Given the description of an element on the screen output the (x, y) to click on. 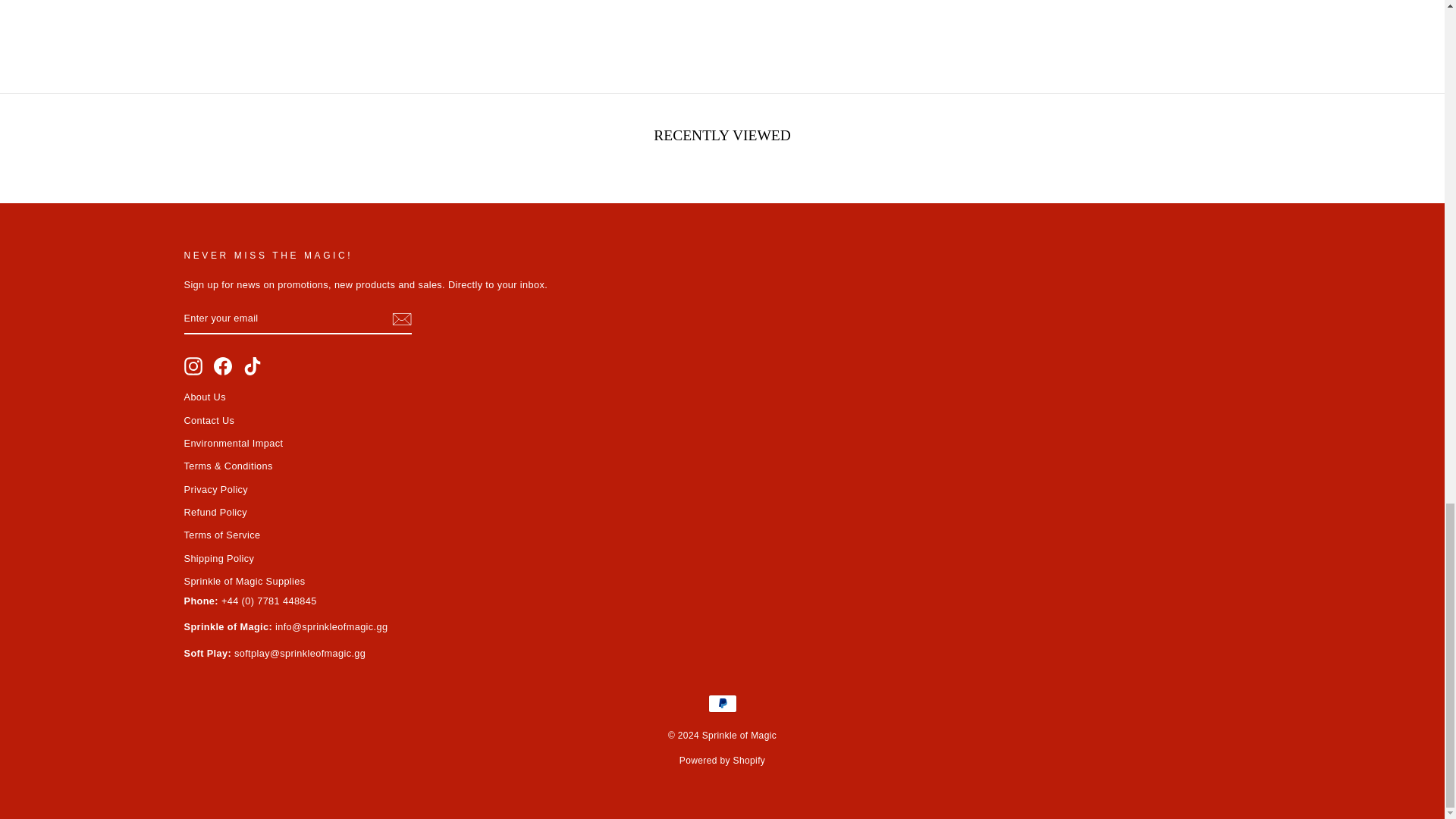
Terms of Service (221, 534)
Sprinkle of Magic on TikTok (251, 366)
About Us (204, 396)
Privacy Policy (215, 489)
Contact Us (208, 420)
Facebook (222, 366)
TikTok (251, 366)
PayPal (721, 703)
Sprinkle of Magic on Facebook (222, 366)
Sprinkle of Magic on Instagram (192, 366)
Refund Policy (215, 512)
Environmental Impact (232, 443)
Instagram (192, 366)
